Given the description of an element on the screen output the (x, y) to click on. 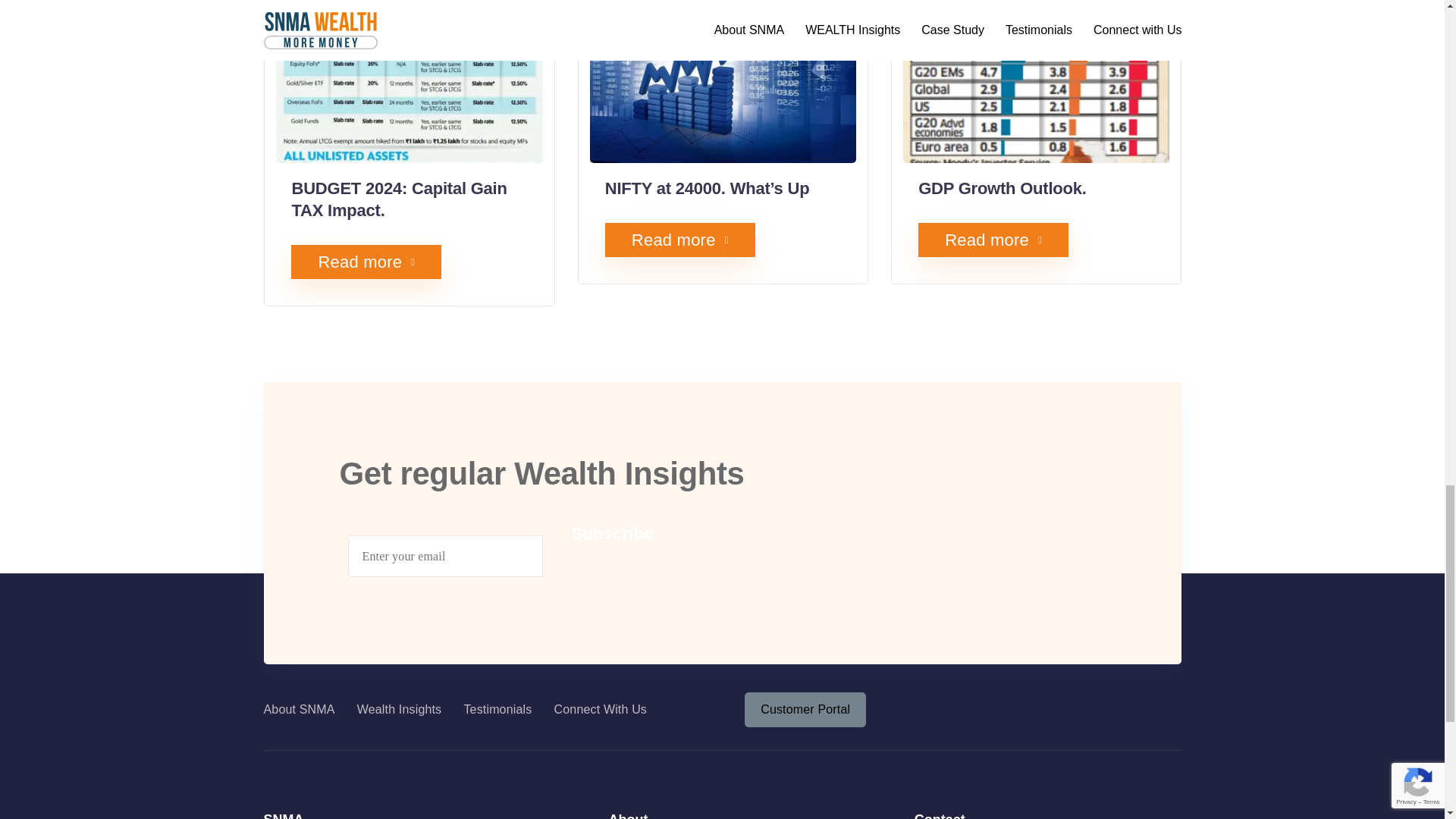
Subscribe (612, 533)
